Given the description of an element on the screen output the (x, y) to click on. 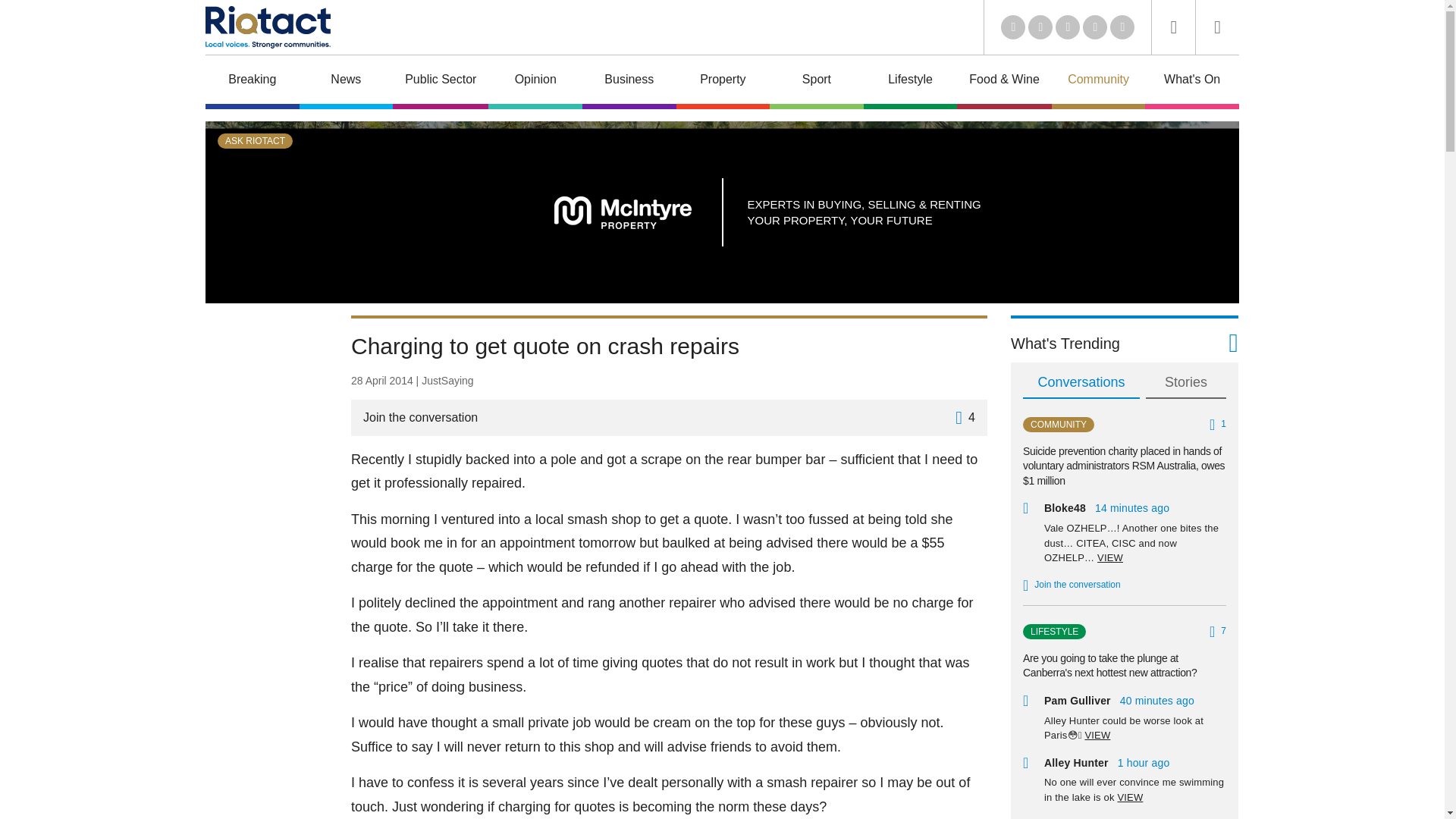
Facebook (1094, 27)
Twitter (1039, 27)
LinkedIn (1013, 27)
News (346, 81)
Instagram (1121, 27)
Riotact Home (267, 26)
Youtube (1067, 27)
Breaking (252, 81)
